Given the description of an element on the screen output the (x, y) to click on. 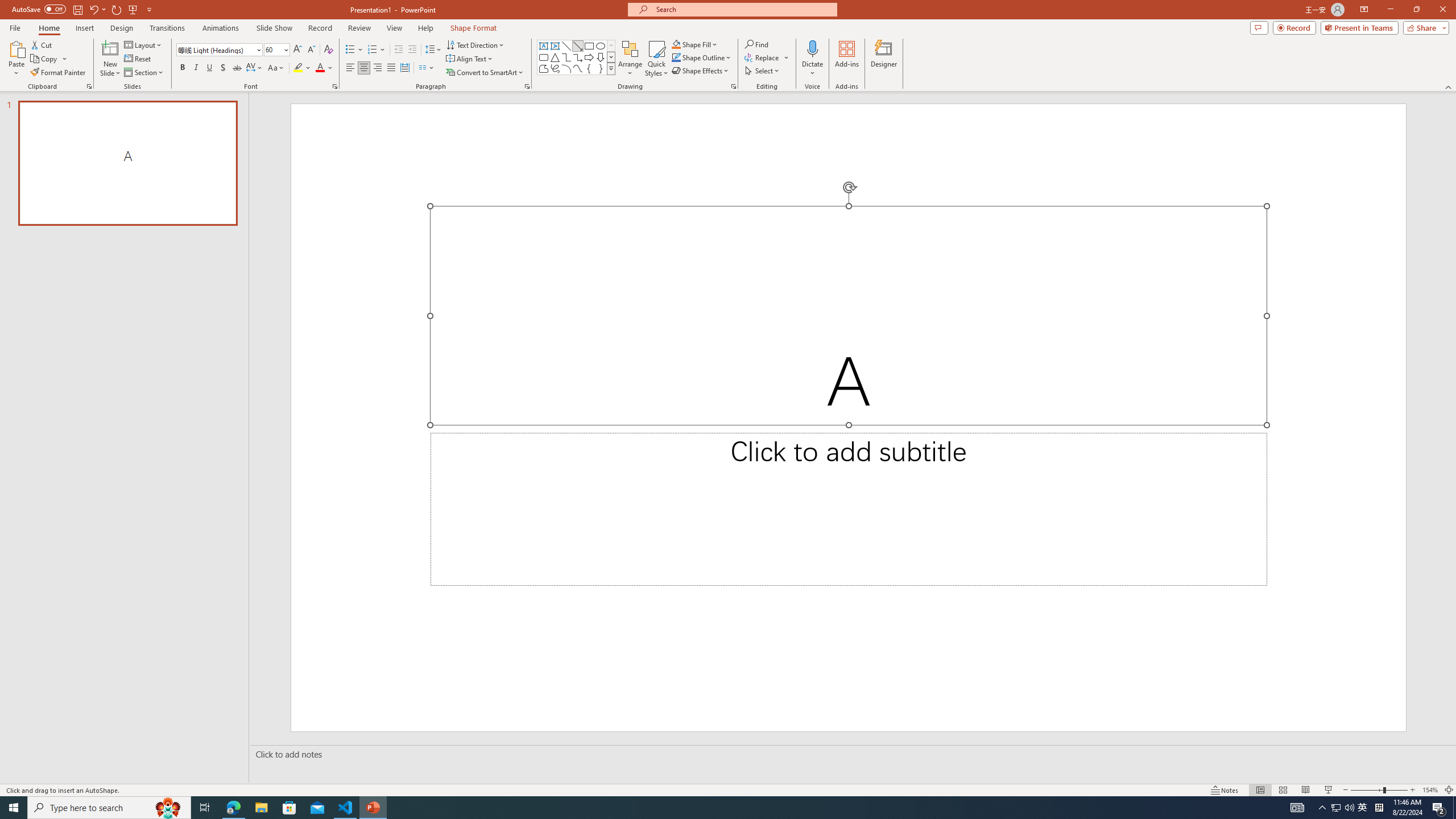
Zoom 154% (1430, 790)
